Given the description of an element on the screen output the (x, y) to click on. 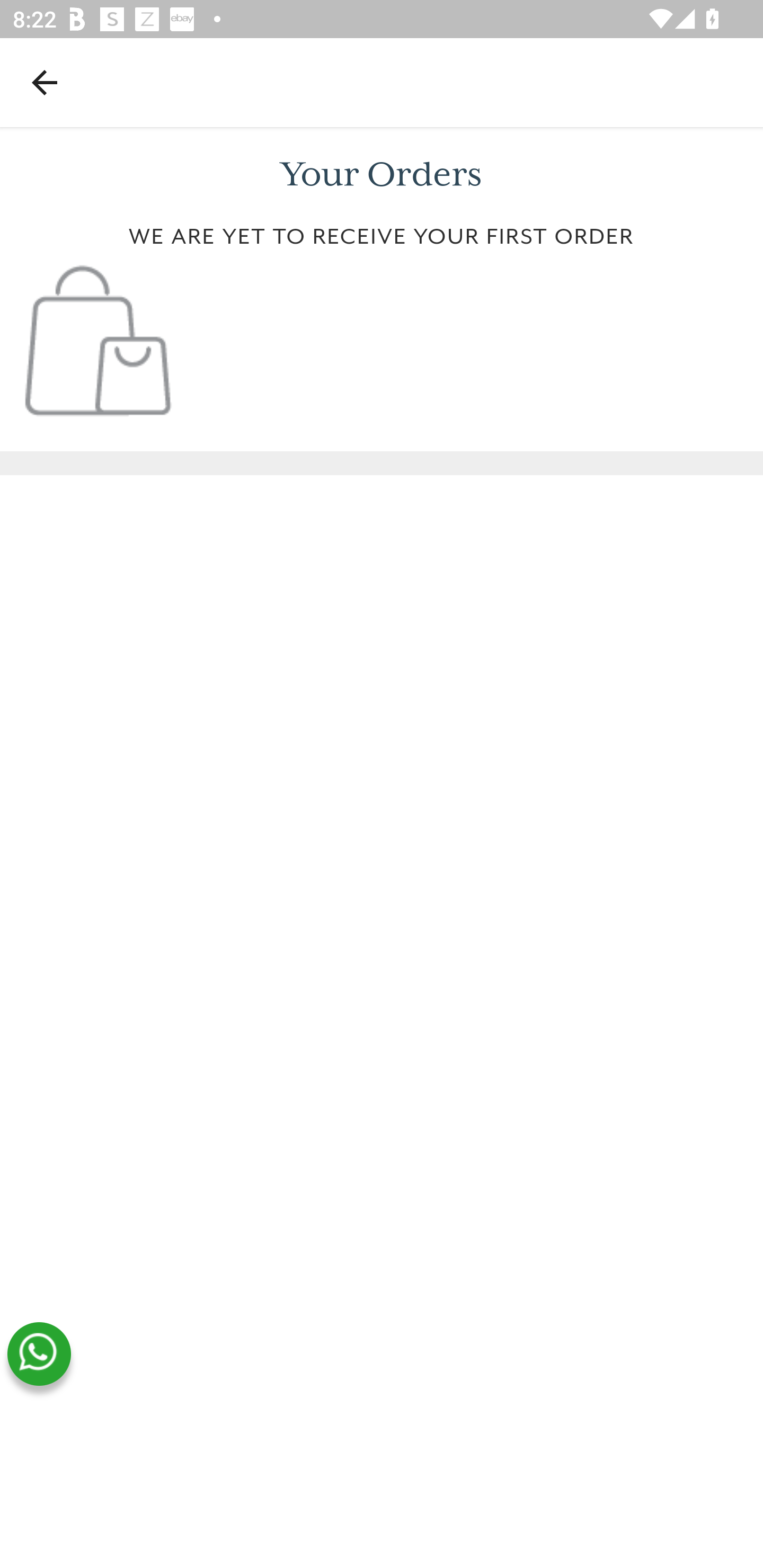
Navigate up (44, 82)
whatsapp (38, 1353)
